Given the description of an element on the screen output the (x, y) to click on. 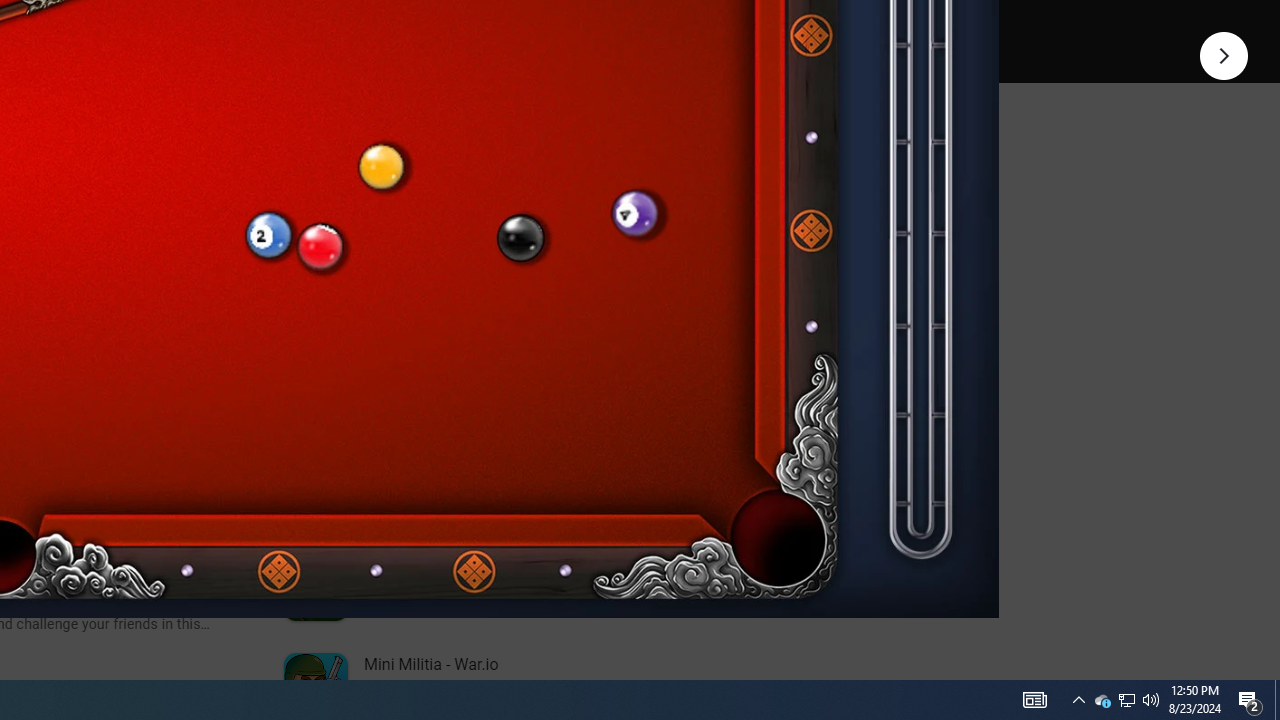
See more information on More by Miniclip.com (530, 229)
Expand (441, 155)
Play trailer (587, 24)
Scroll Next (212, 272)
Next (1224, 54)
